Given the description of an element on the screen output the (x, y) to click on. 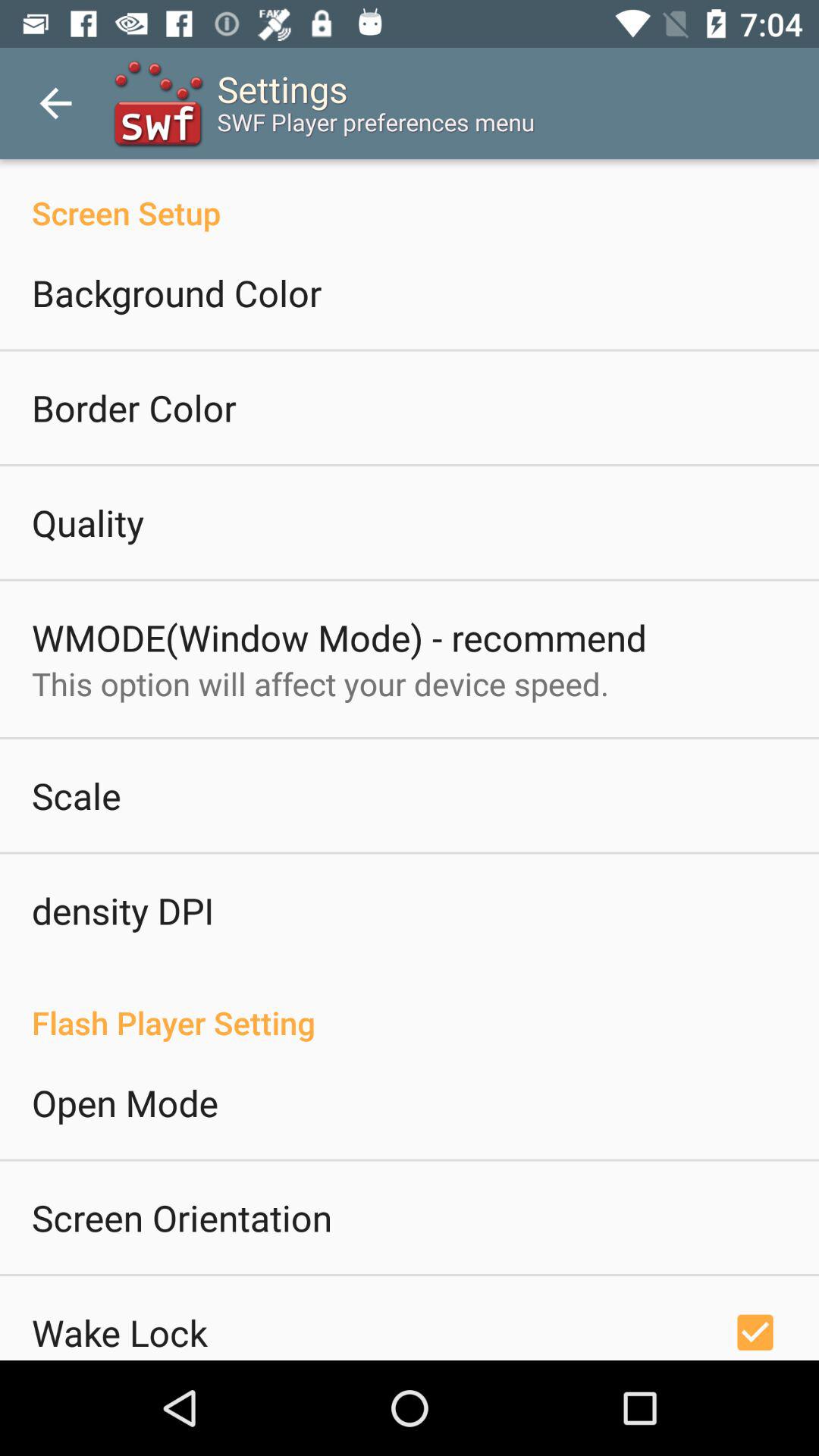
tap icon below scale icon (122, 910)
